Given the description of an element on the screen output the (x, y) to click on. 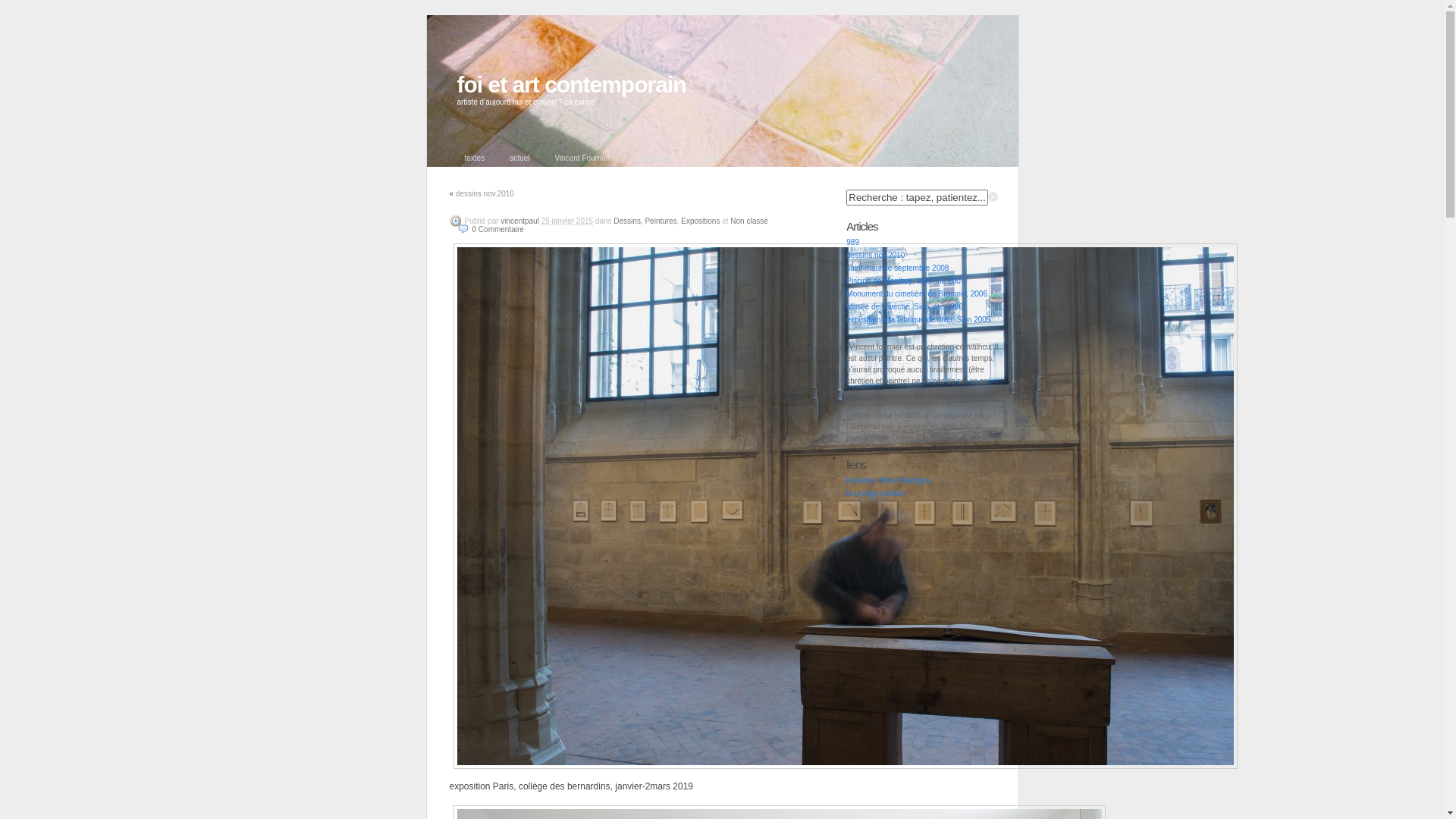
Vincent Fournier Element type: text (581, 158)
0 Commentaire Element type: text (489, 229)
OK Element type: text (8, 7)
989 Element type: text (852, 242)
foi et art contemporain Element type: text (570, 84)
Expositions Element type: text (653, 158)
Piscine de Monthey, automne 2007 Element type: text (905, 280)
dessins nov.2010 Element type: text (484, 193)
dessins nov.2010 Element type: text (875, 255)
saint-maurice septembre 2008 Element type: text (897, 267)
VOG_2644 Element type: hover (845, 505)
Expositions Element type: text (699, 220)
la grange-maison Element type: text (875, 493)
Dessins, Peintures Element type: text (644, 220)
actuel Element type: text (519, 158)
vincentpaul Element type: text (519, 220)
textes Element type: text (474, 158)
fondation Moret Martigny Element type: text (888, 480)
